Given the description of an element on the screen output the (x, y) to click on. 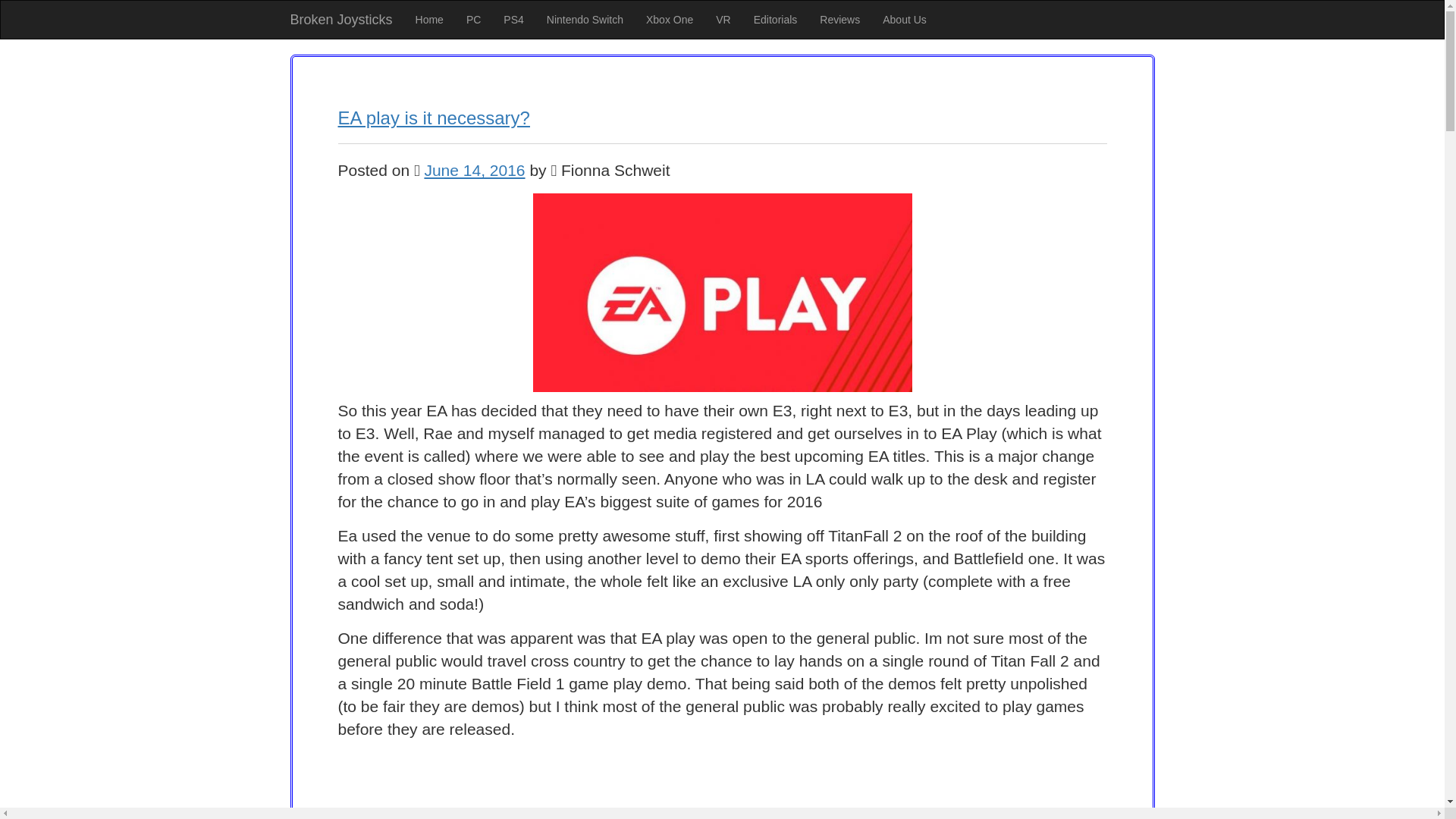
EA play is it necessary? (433, 117)
PC (473, 19)
VR (722, 19)
Nintendo Switch (584, 19)
June 14, 2016 (473, 170)
PC (473, 19)
Broken Joysticks (341, 19)
Home (429, 19)
VR (722, 19)
About Us (903, 19)
Xbox One (669, 19)
Xbox One (669, 19)
PS4 (513, 19)
Reviews (839, 19)
Editorials (775, 19)
